Given the description of an element on the screen output the (x, y) to click on. 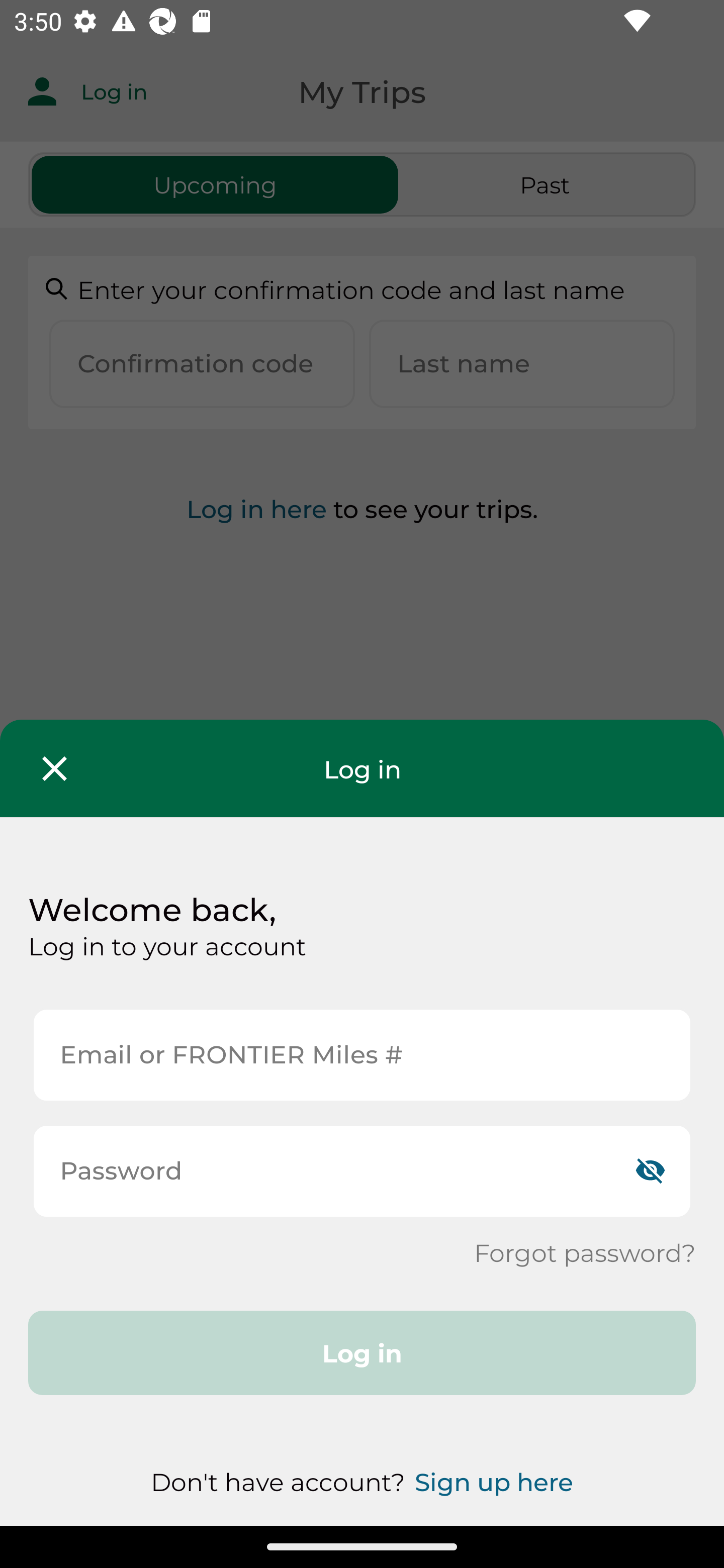
Email or FRONTIER Miles # (361, 1055)
Password (361, 1171)
Show password (650, 1170)
Forgot password? (584, 1251)
Log in (361, 1352)
Sign up here (493, 1481)
